Given the description of an element on the screen output the (x, y) to click on. 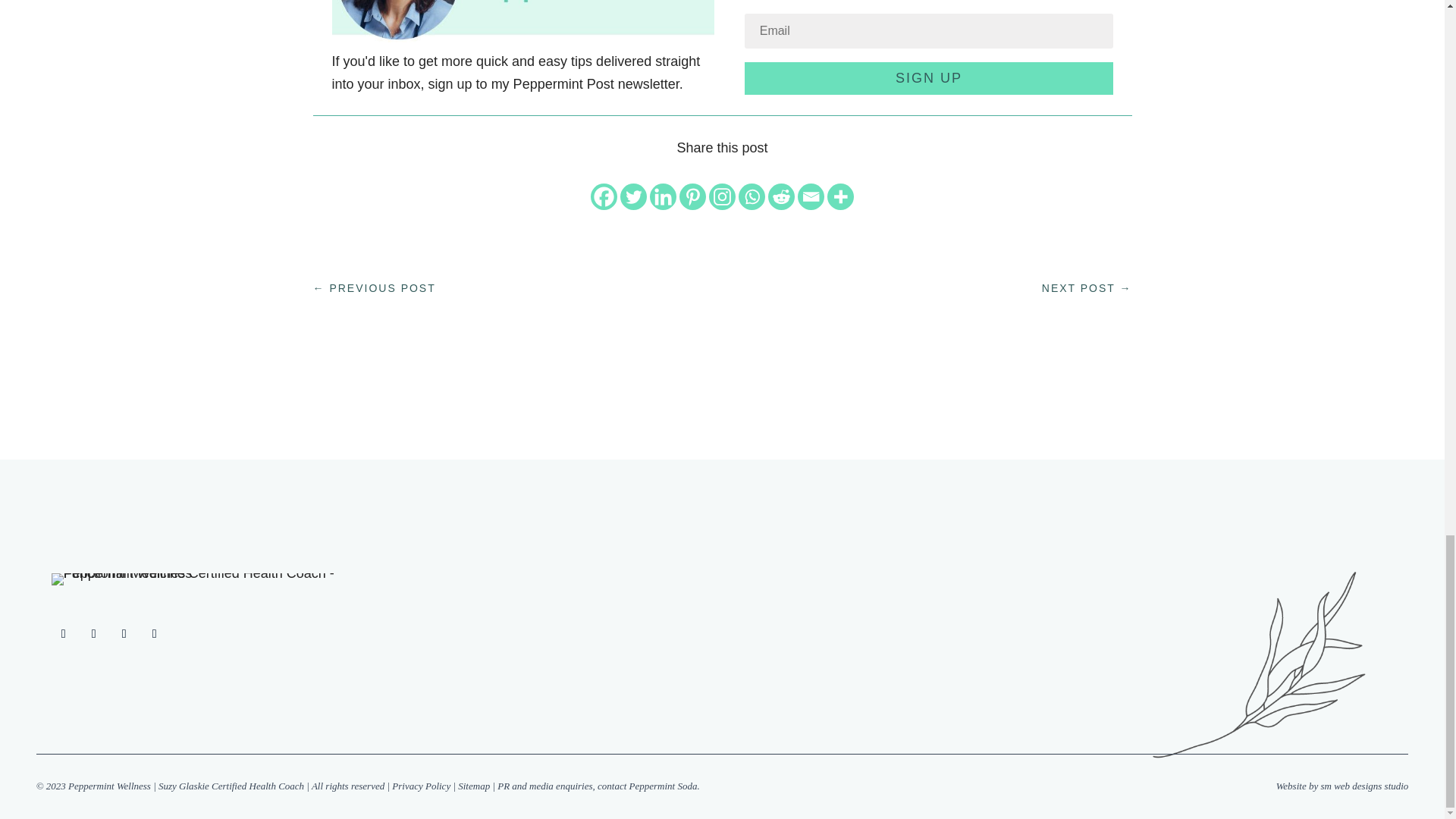
Pinterest (692, 196)
Follow on Instagram (93, 633)
Twitter (633, 196)
Email (810, 196)
Facebook (604, 196)
Linkedin (663, 196)
Peppermint Wellness logo (196, 579)
Instagram (722, 196)
Follow on LinkedIn (124, 633)
Follow on Facebook (62, 633)
